Given the description of an element on the screen output the (x, y) to click on. 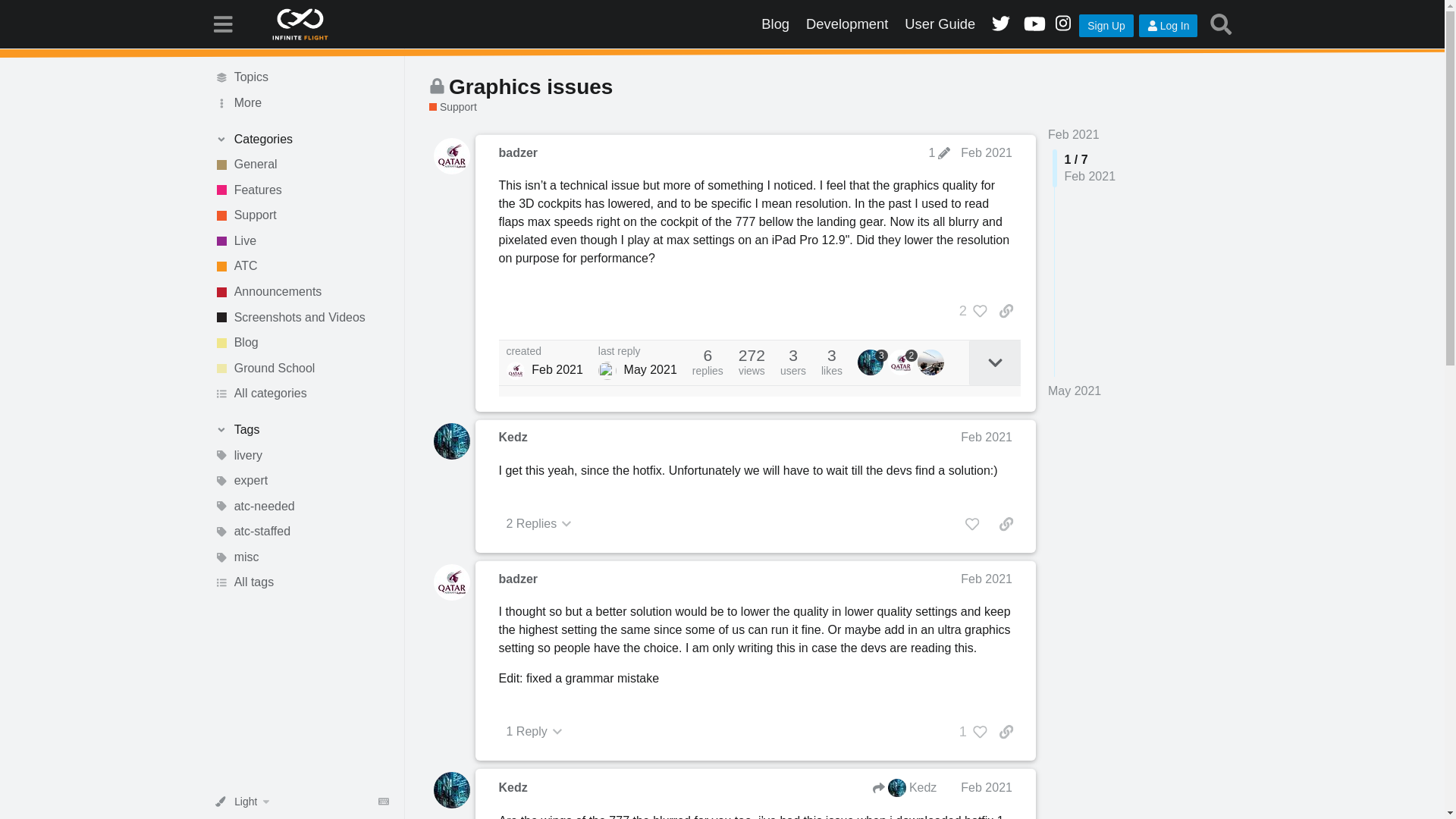
Infinite Flight on Instagram (1062, 24)
Ground School (301, 368)
Visit the Infinite Flight Blog (774, 23)
Sidebar (222, 23)
Twitter (999, 24)
Instagram (1062, 24)
Announcements (301, 291)
misc (301, 557)
YouTube (1030, 24)
This is the Features category (301, 190)
All topics (301, 77)
Support (453, 106)
Blog (774, 23)
Development (846, 23)
